Given the description of an element on the screen output the (x, y) to click on. 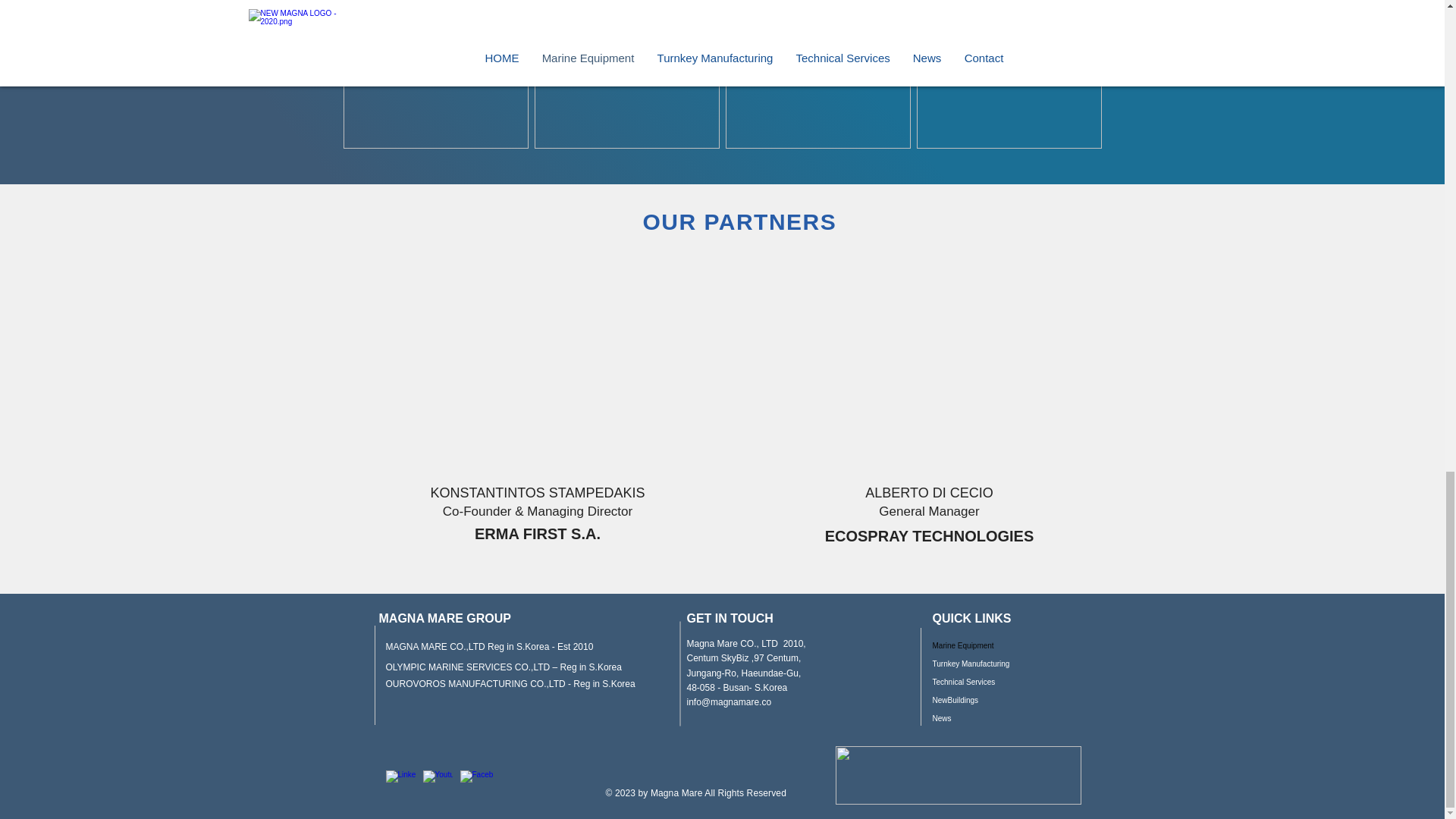
News (986, 719)
Technical Services (986, 682)
NewBuildings (986, 700)
Marine Equipment (986, 646)
Turnkey Manufacturing (986, 664)
